Given the description of an element on the screen output the (x, y) to click on. 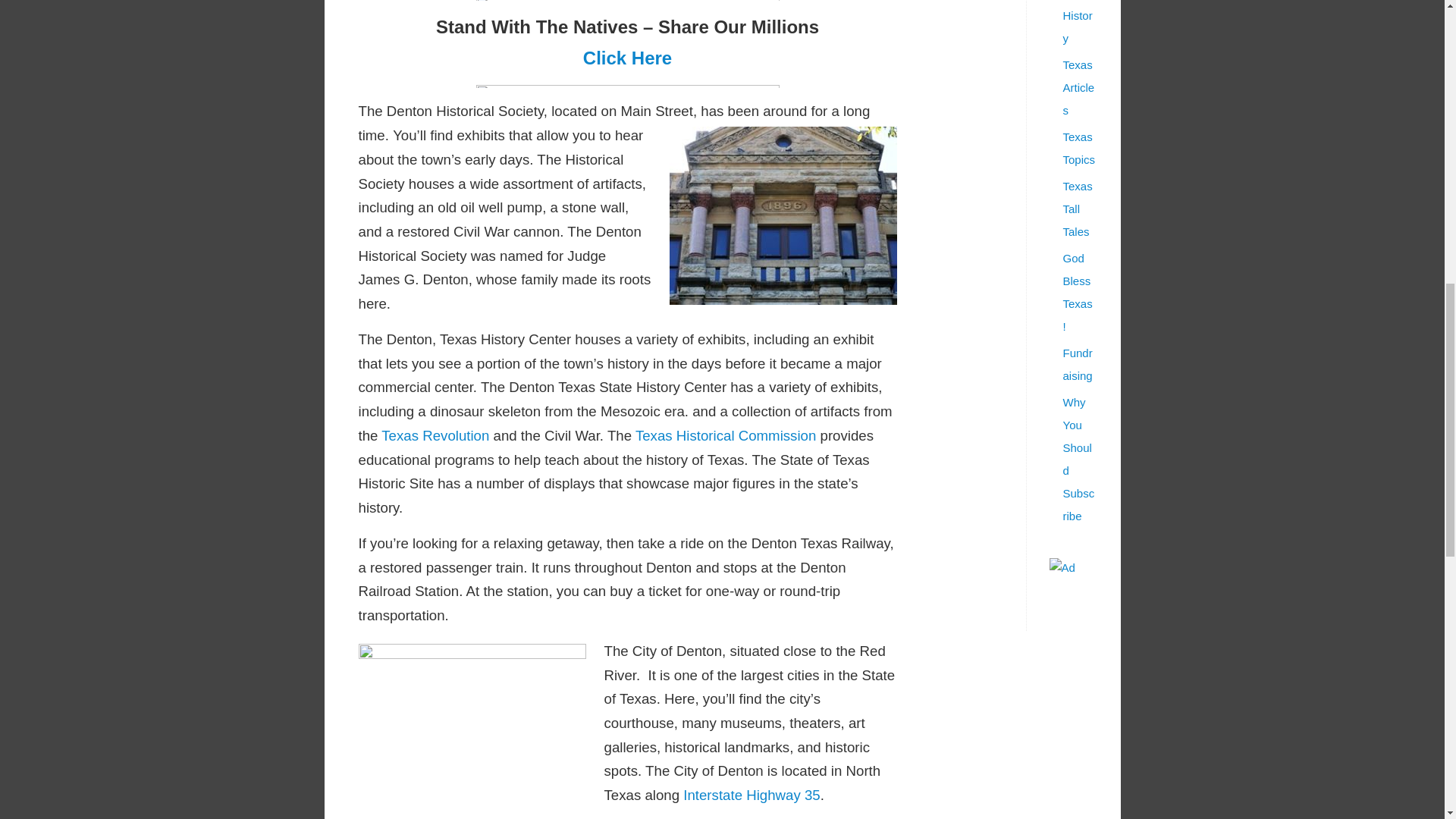
Texas Historical Commission (724, 435)
Texas Topics (1079, 148)
Denton Texas Historical Commission (724, 435)
Click Here (627, 57)
Texas Revolution (435, 435)
Interstate Highway 35 (750, 795)
